Given the description of an element on the screen output the (x, y) to click on. 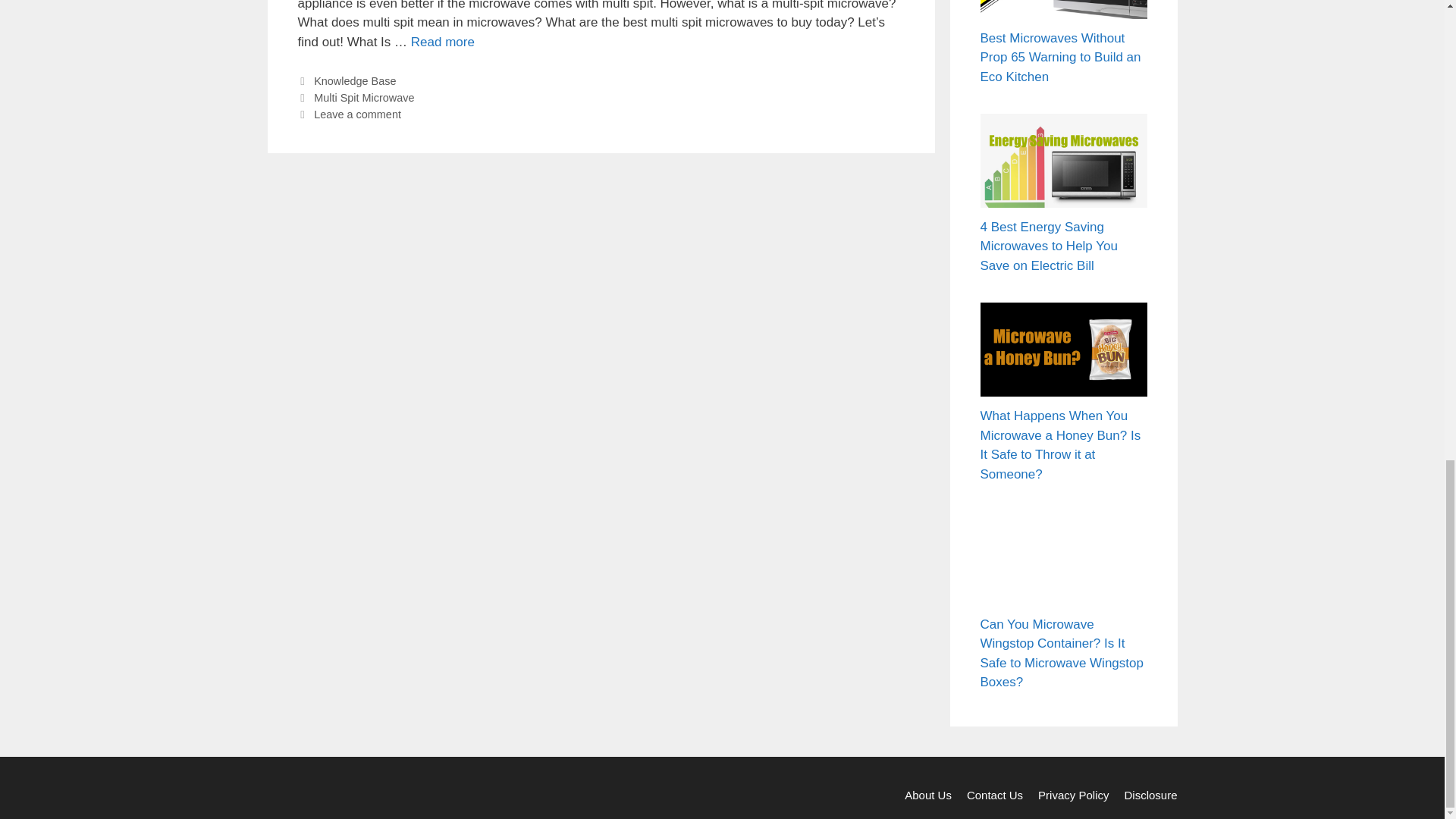
Disclosure (1150, 794)
Leave a comment (357, 114)
Privacy Policy (1073, 794)
Multi Spit Microwave (363, 97)
Contact Us (994, 794)
Knowledge Base (355, 80)
About Us (928, 794)
